Given the description of an element on the screen output the (x, y) to click on. 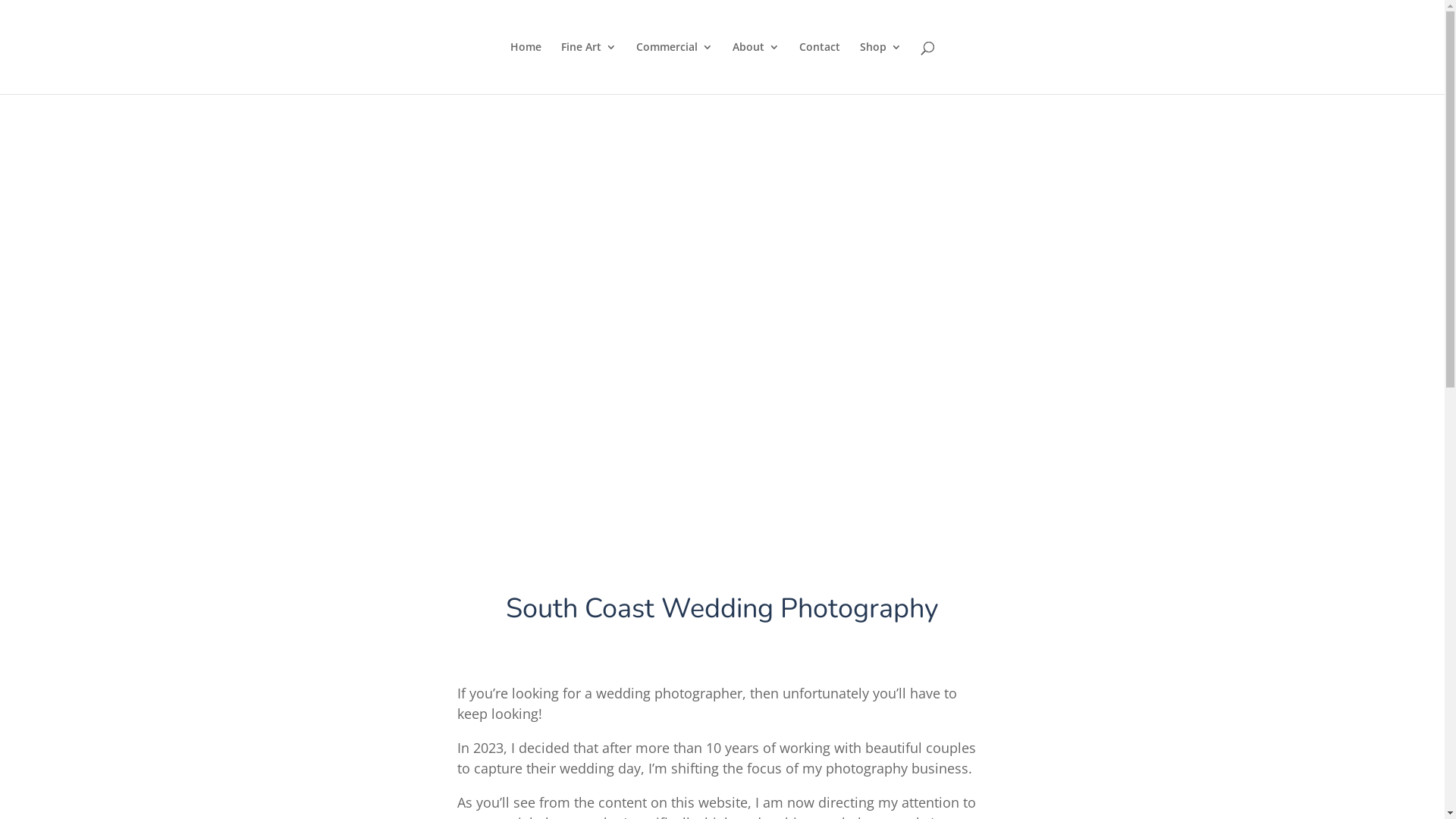
Fine Art Element type: text (588, 67)
Shop Element type: text (880, 67)
Commercial Element type: text (673, 67)
About Element type: text (755, 67)
Contact Element type: text (819, 67)
Home Element type: text (524, 67)
